Given the description of an element on the screen output the (x, y) to click on. 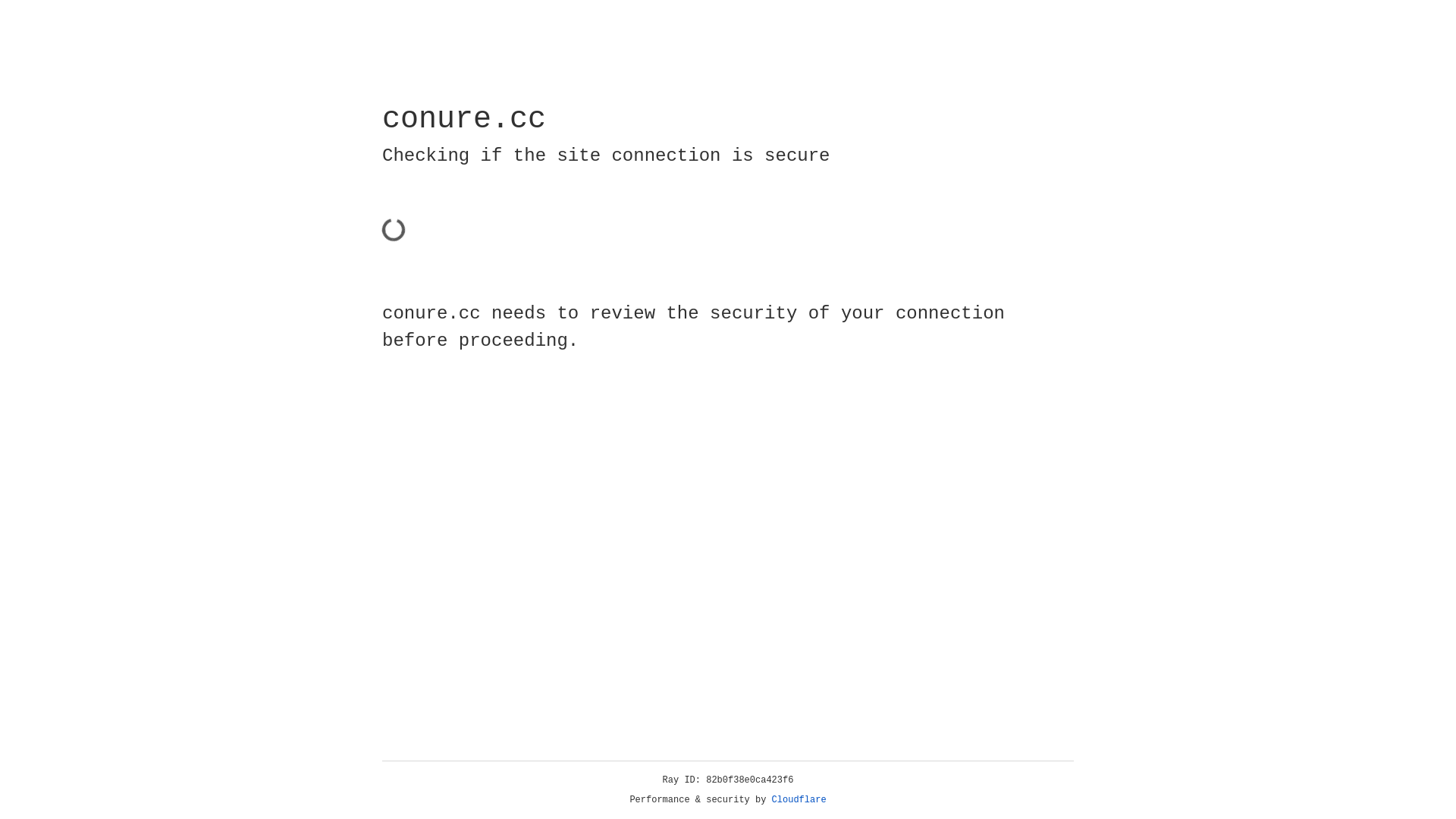
Cloudflare Element type: text (798, 799)
